Given the description of an element on the screen output the (x, y) to click on. 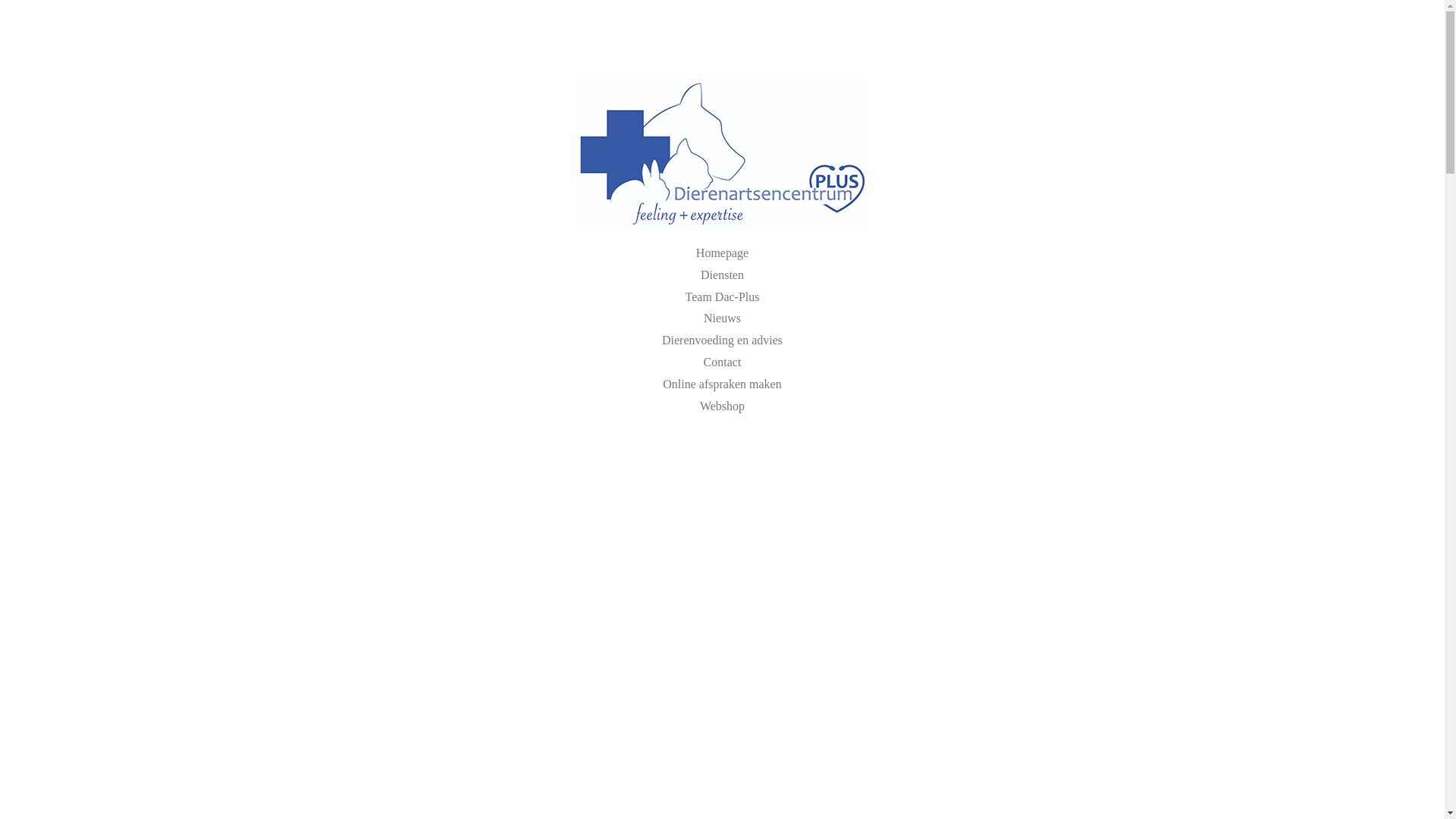
Diensten Element type: text (721, 274)
Nieuws Element type: text (721, 317)
Dierenvoeding en advies Element type: text (722, 339)
Online afspraken maken Element type: text (721, 383)
info@dac-plus.be Element type: text (750, 42)
Contact Element type: text (722, 361)
Team Dac-Plus Element type: text (722, 296)
Webshop Element type: text (721, 405)
Homepage Element type: text (722, 252)
